Given the description of an element on the screen output the (x, y) to click on. 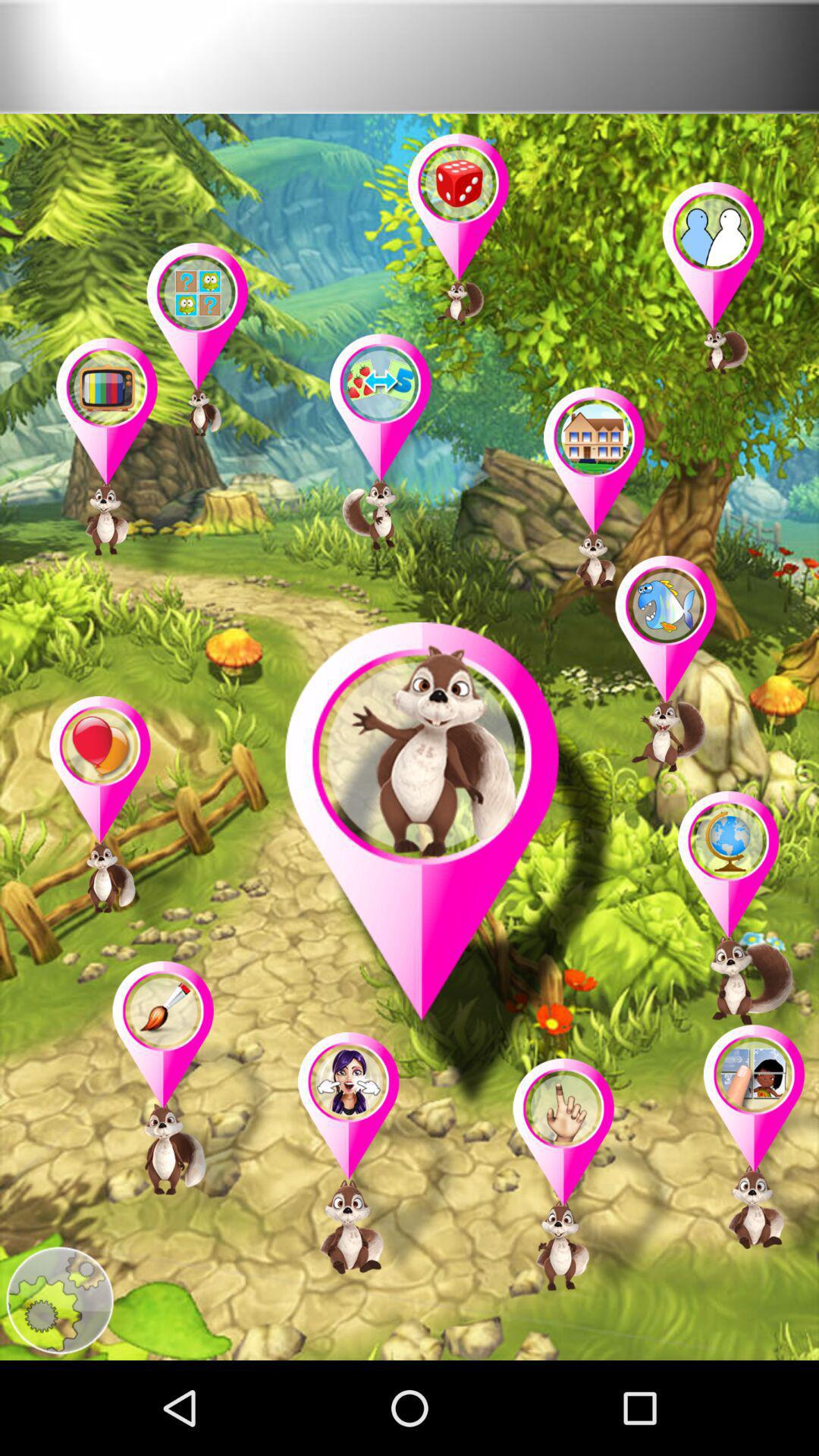
it is game key (625, 512)
